Given the description of an element on the screen output the (x, y) to click on. 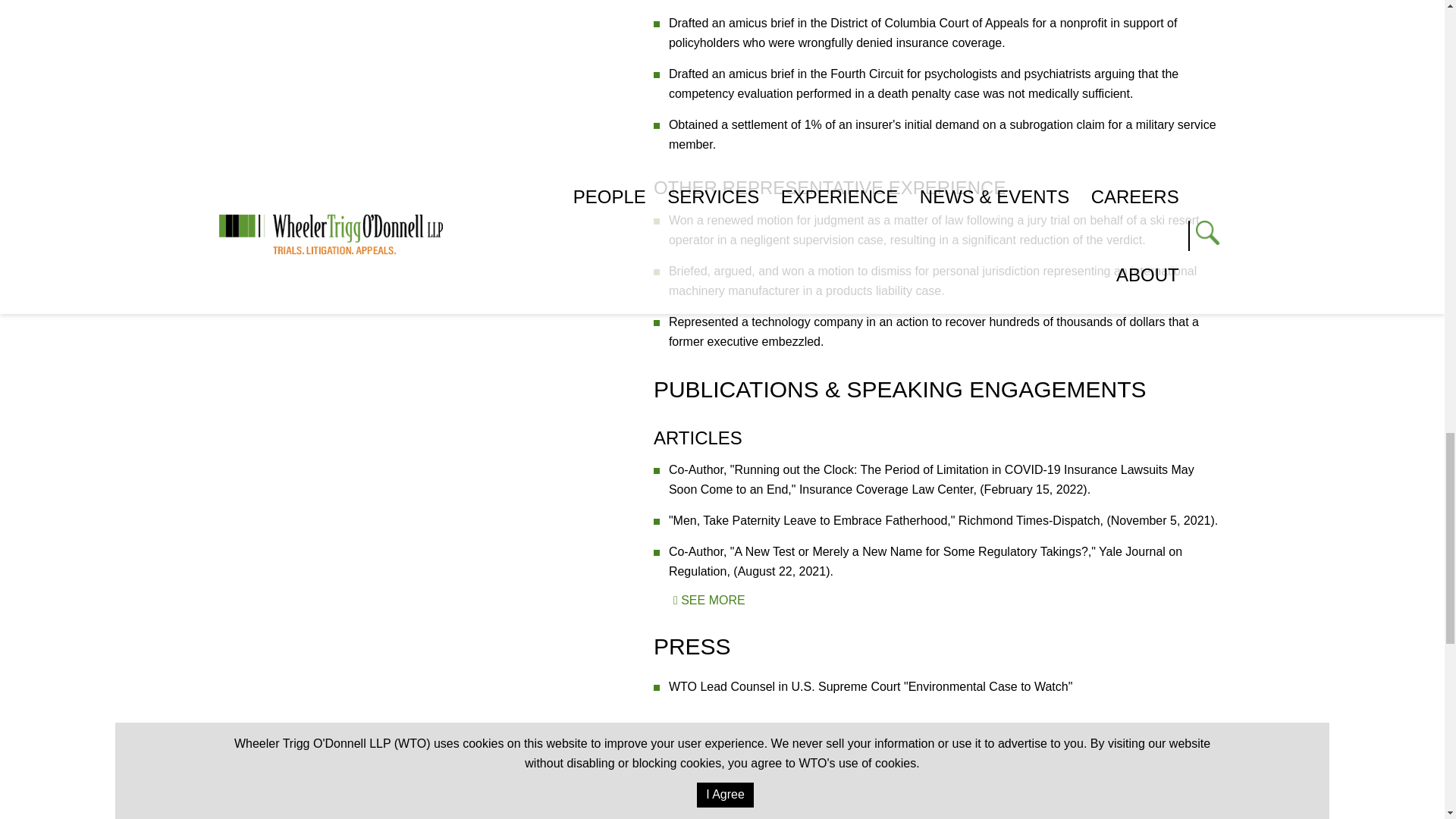
SEE MORE (708, 600)
